Given the description of an element on the screen output the (x, y) to click on. 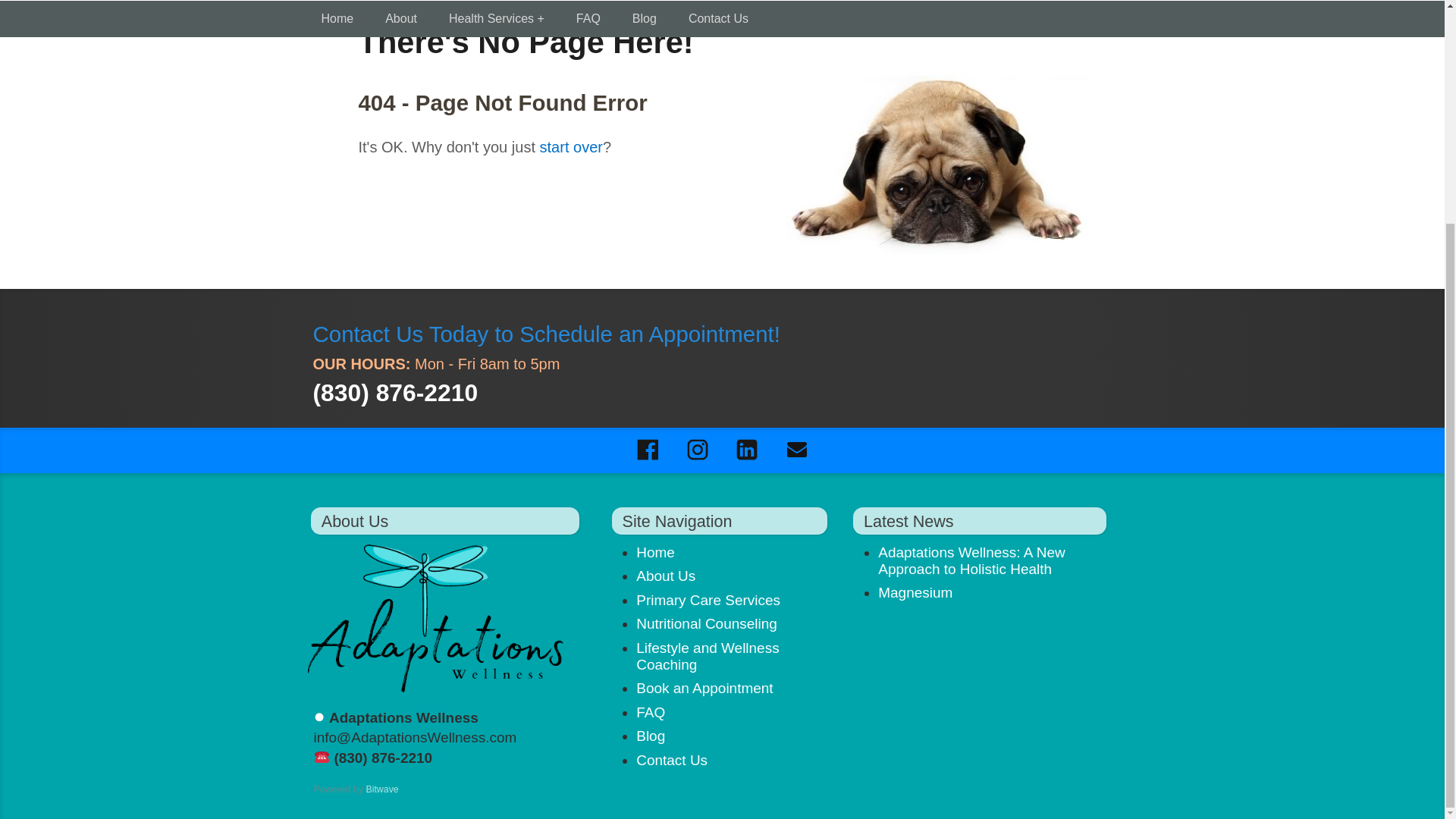
Home (655, 551)
Book an Appointment (704, 688)
Magnesium (914, 592)
Adaptations Wellness: A New Approach to Holistic Health (970, 559)
Nutritional Counseling (706, 623)
About Us (665, 575)
Blog (650, 735)
Primary Care Services (708, 600)
Contact Us (671, 760)
Lifestyle and Wellness Coaching (707, 655)
Bitwave (381, 788)
start over (571, 146)
FAQ (650, 712)
